Given the description of an element on the screen output the (x, y) to click on. 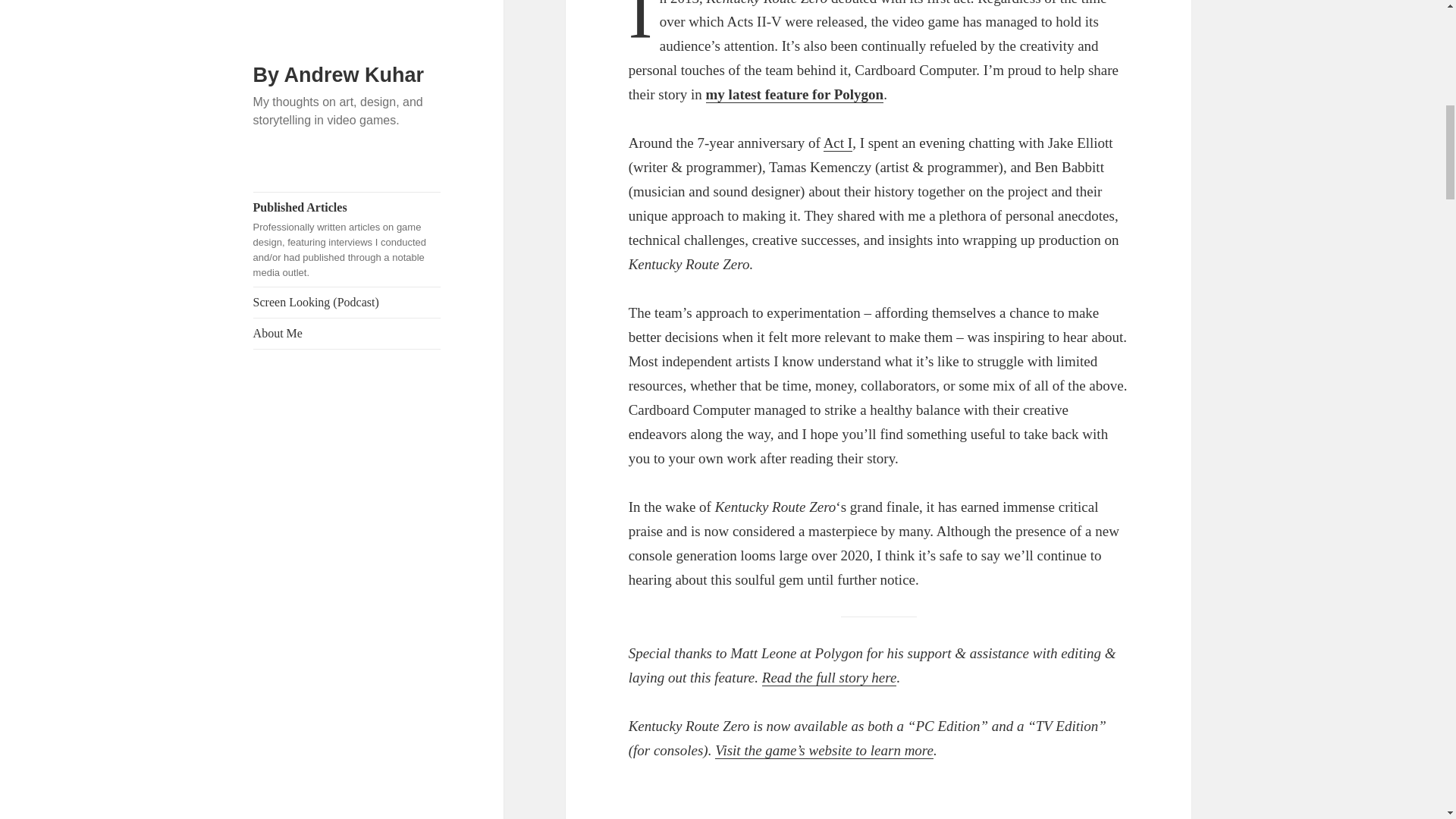
my latest feature for Polygon (794, 94)
Read the full story here (828, 677)
Act I (838, 143)
